Given the description of an element on the screen output the (x, y) to click on. 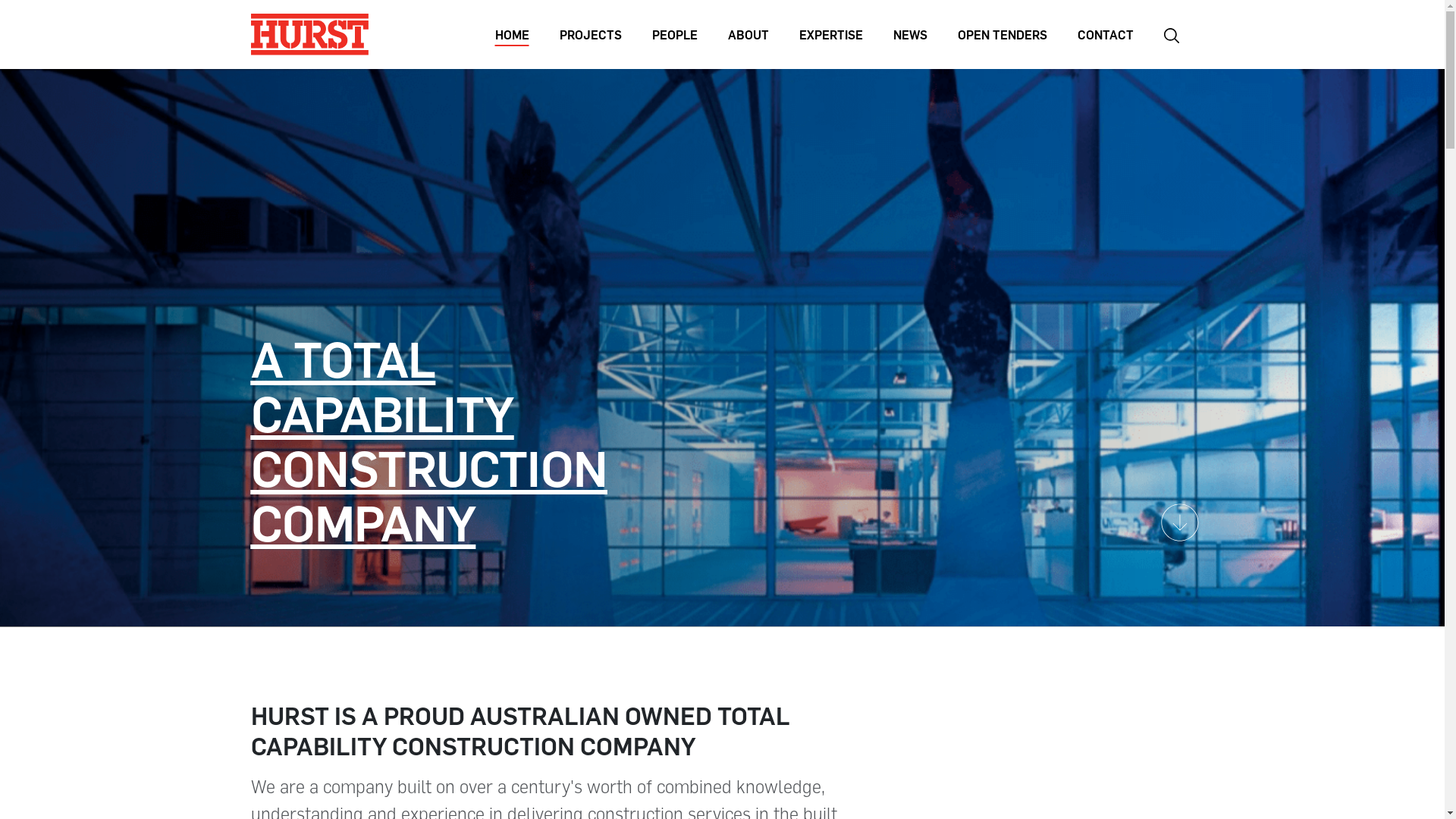
HOME
(current page) Element type: text (511, 33)
CONTACT Element type: text (1104, 33)
NEWS Element type: text (910, 33)
A TOTAL CAPABILITY CONSTRUCTION COMPANY Element type: text (428, 440)
PEOPLE Element type: text (674, 33)
PROJECTS Element type: text (590, 33)
ABOUT Element type: text (748, 33)
Search Button Icon Element type: text (1170, 33)
OPEN TENDERS Element type: text (1001, 33)
Hurst Concepts logo Element type: text (309, 34)
EXPERTISE Element type: text (831, 33)
